Given the description of an element on the screen output the (x, y) to click on. 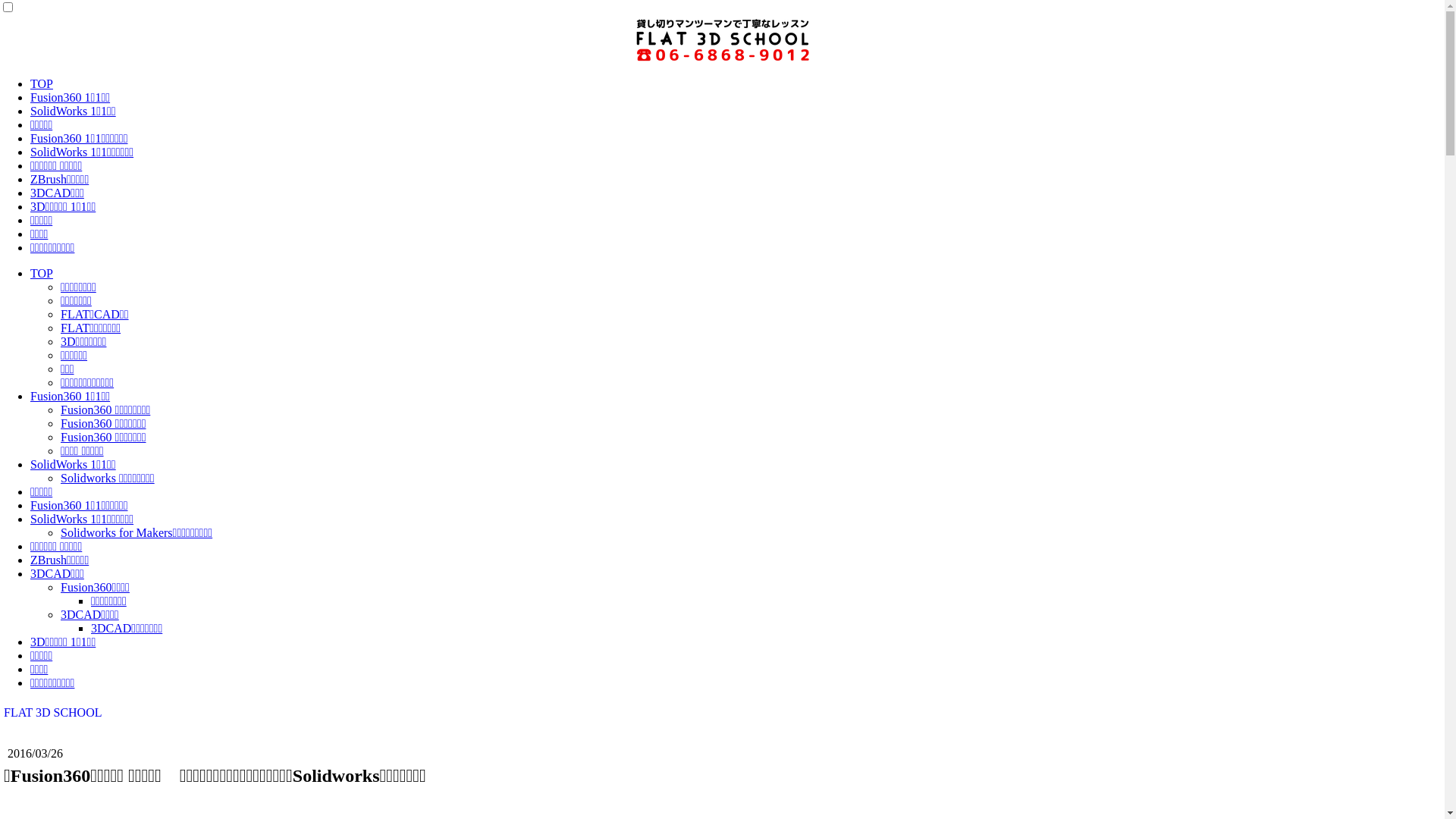
TOP Element type: text (41, 272)
FLAT 3D SCHOOL Element type: text (721, 712)
TOP Element type: text (41, 83)
